Given the description of an element on the screen output the (x, y) to click on. 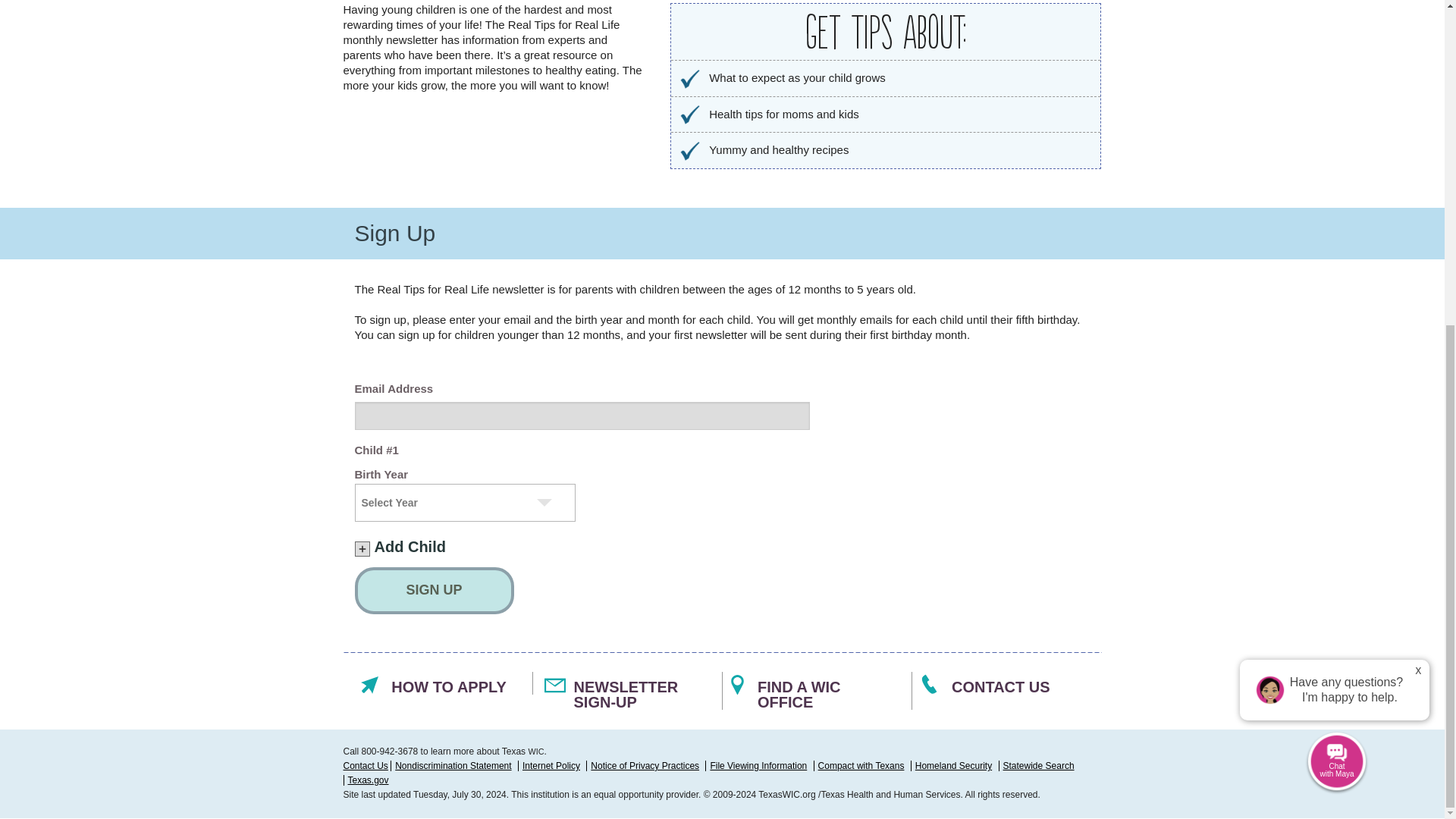
Sign Up (434, 590)
Homeland Security (953, 765)
Statewide Search (1038, 765)
Year (465, 502)
Notice of Privacy Practices (644, 765)
Compact with Texans (861, 765)
Texas.gov (367, 779)
